Given the description of an element on the screen output the (x, y) to click on. 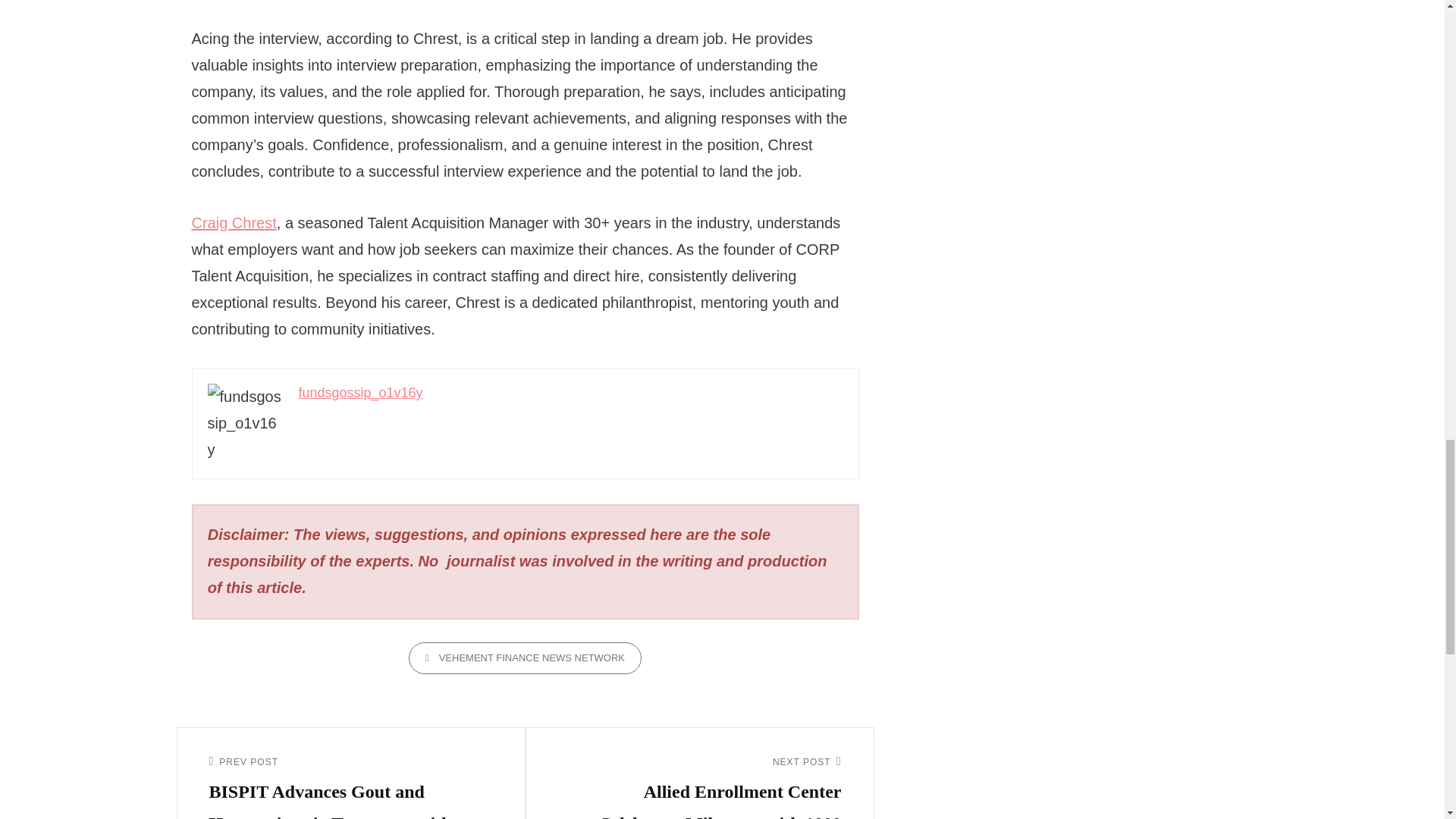
Craig Chrest (233, 222)
VEHEMENT FINANCE NEWS NETWORK (525, 658)
